Given the description of an element on the screen output the (x, y) to click on. 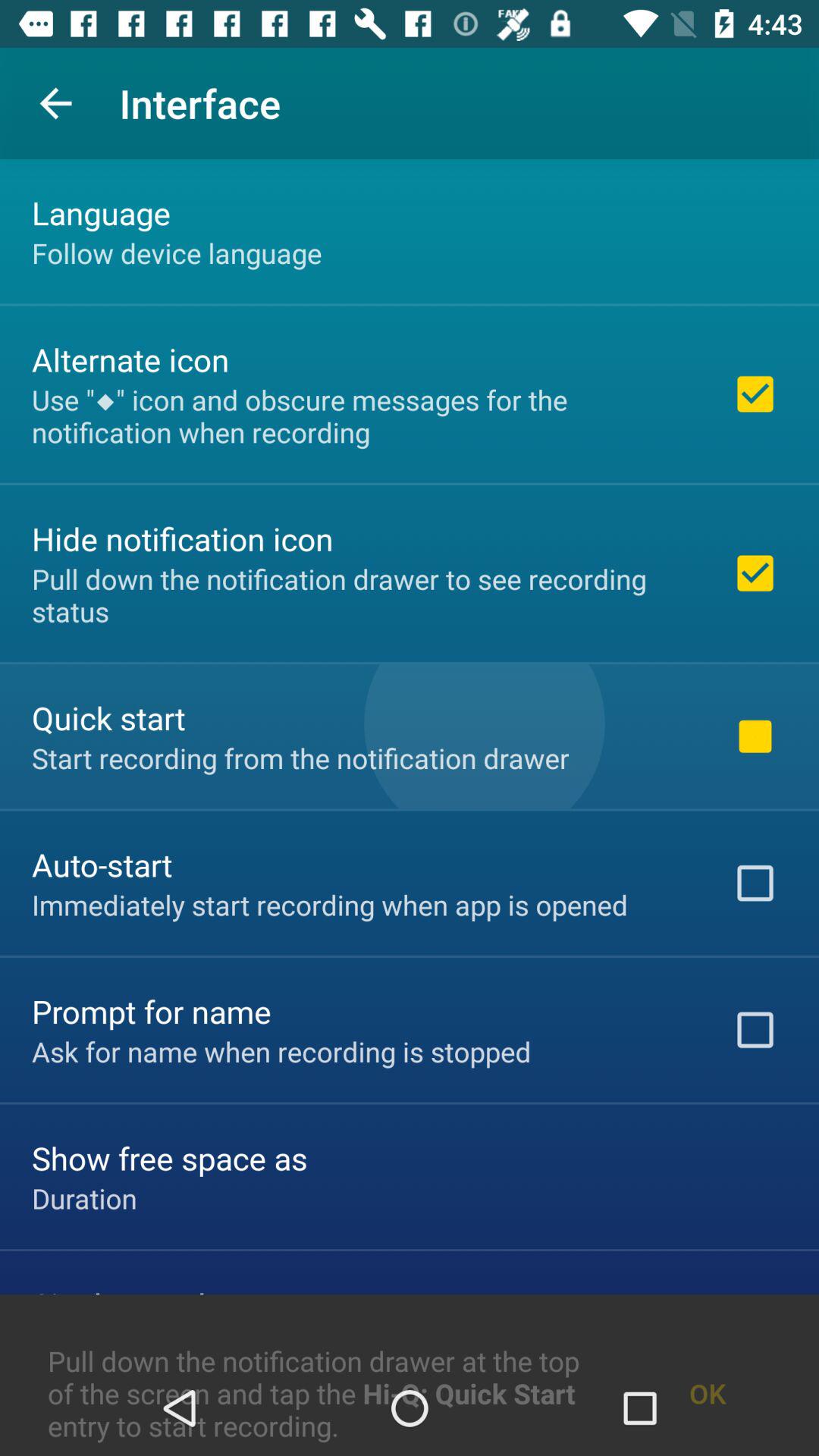
press the icon next to interface app (55, 103)
